Given the description of an element on the screen output the (x, y) to click on. 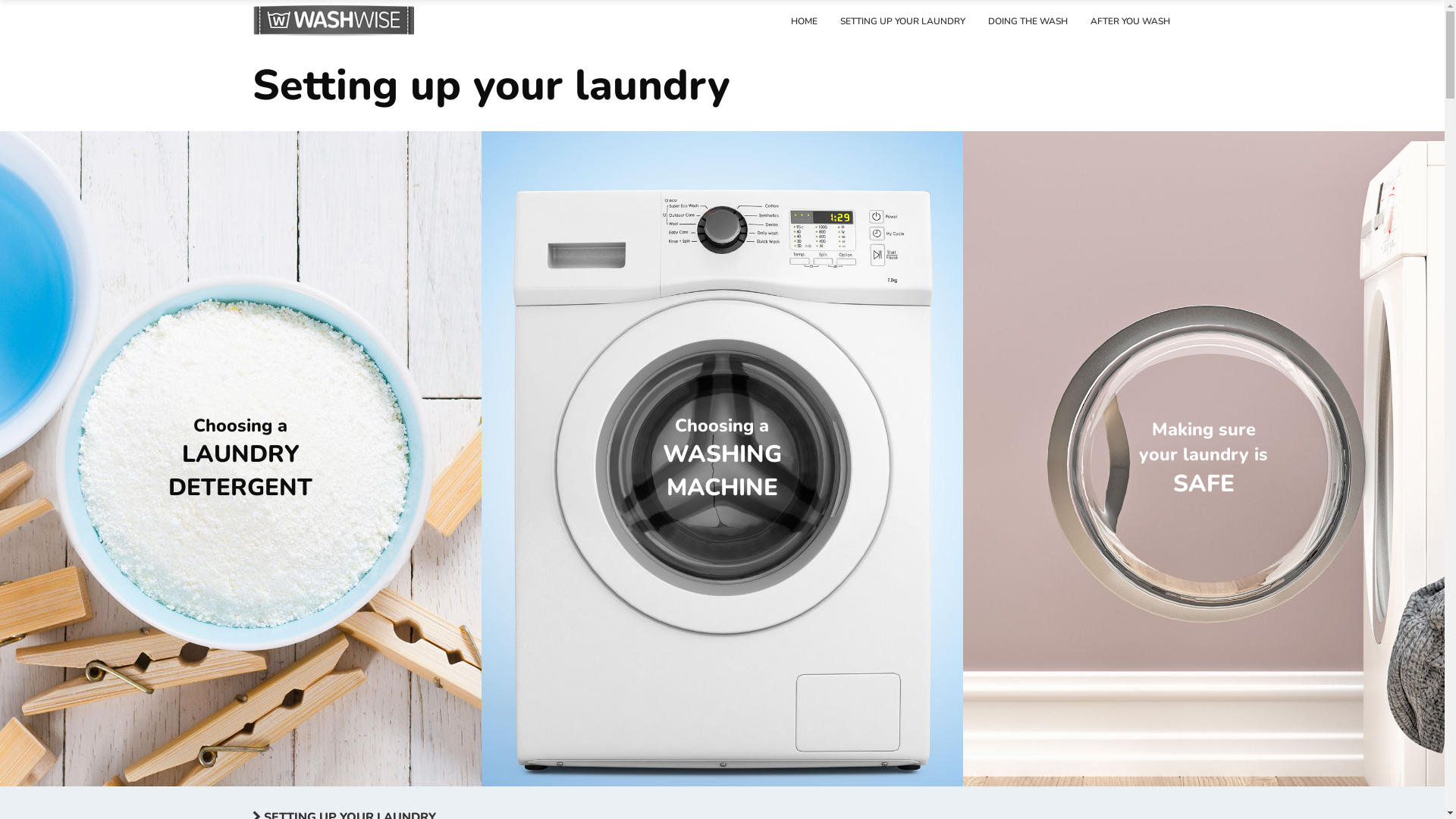
AFTER YOU WASH Element type: text (1129, 21)
Choosing a
WASHING
MACHINE Element type: text (722, 458)
Choosing a
LAUNDRY
DETERGENT Element type: text (240, 458)
SETTING UP YOUR LAUNDRY Element type: text (901, 21)
Making sure
your laundry is
SAFE Element type: text (1203, 458)
HOME Element type: text (803, 21)
DOING THE WASH Element type: text (1027, 21)
